Given the description of an element on the screen output the (x, y) to click on. 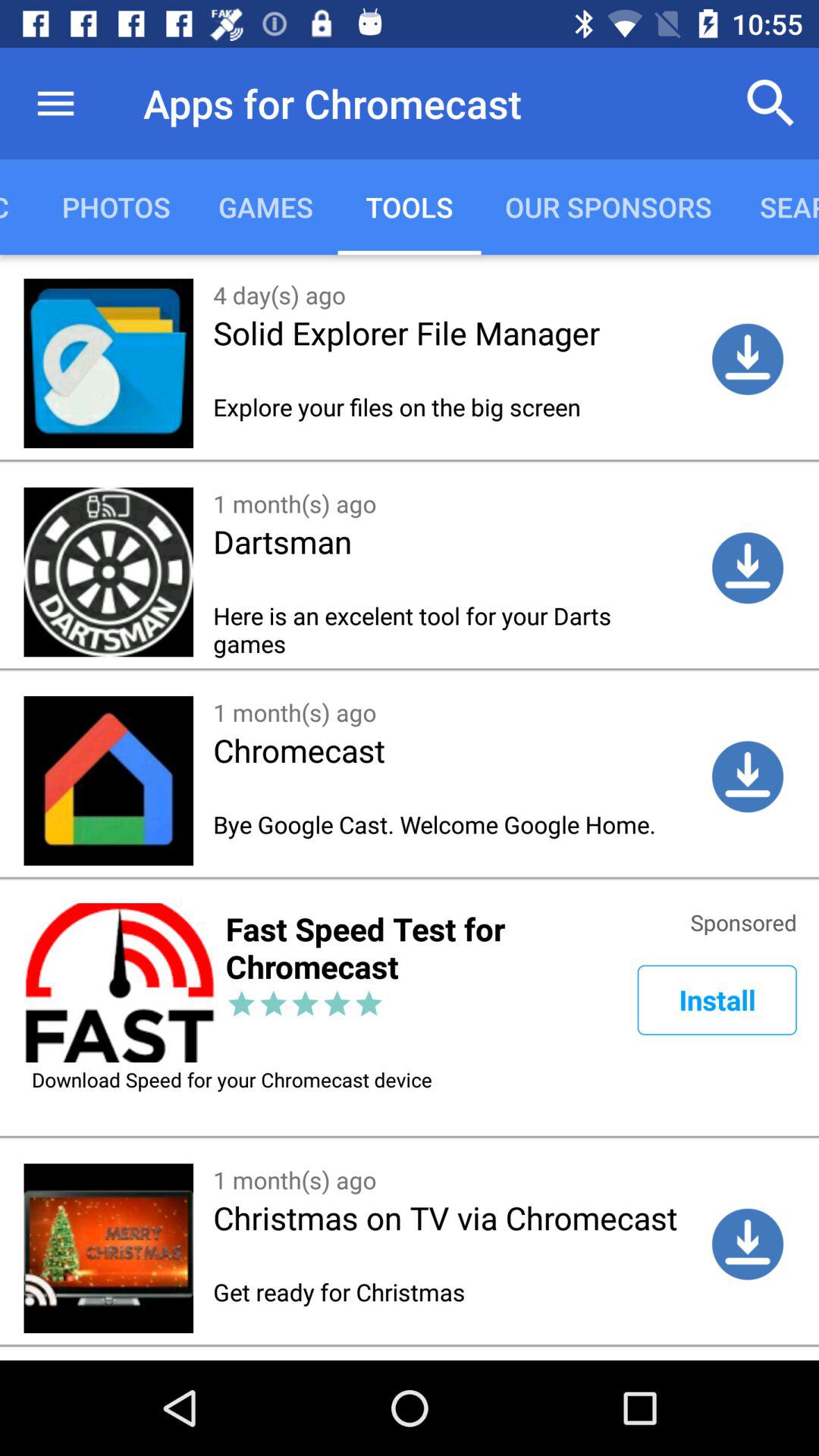
turn on the item next to fast speed test icon (716, 1000)
